Given the description of an element on the screen output the (x, y) to click on. 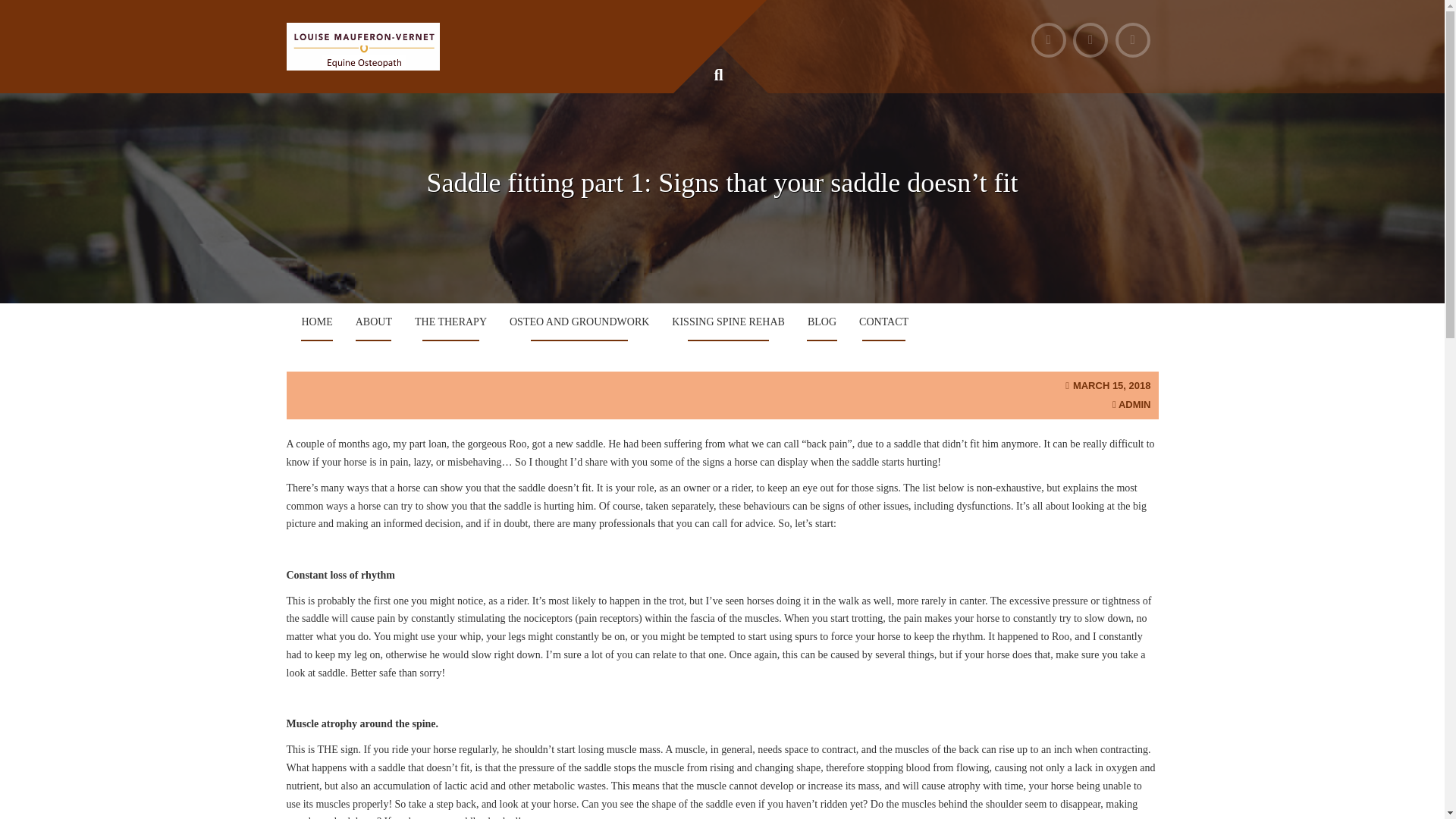
BLOG (821, 322)
ADMIN (1134, 404)
KISSING SPINE REHAB (728, 322)
THE THERAPY (450, 322)
MARCH 15, 2018 (1112, 385)
OSTEO AND GROUNDWORK (579, 322)
CONTACT (883, 322)
ABOUT (373, 322)
HOME (316, 322)
